Given the description of an element on the screen output the (x, y) to click on. 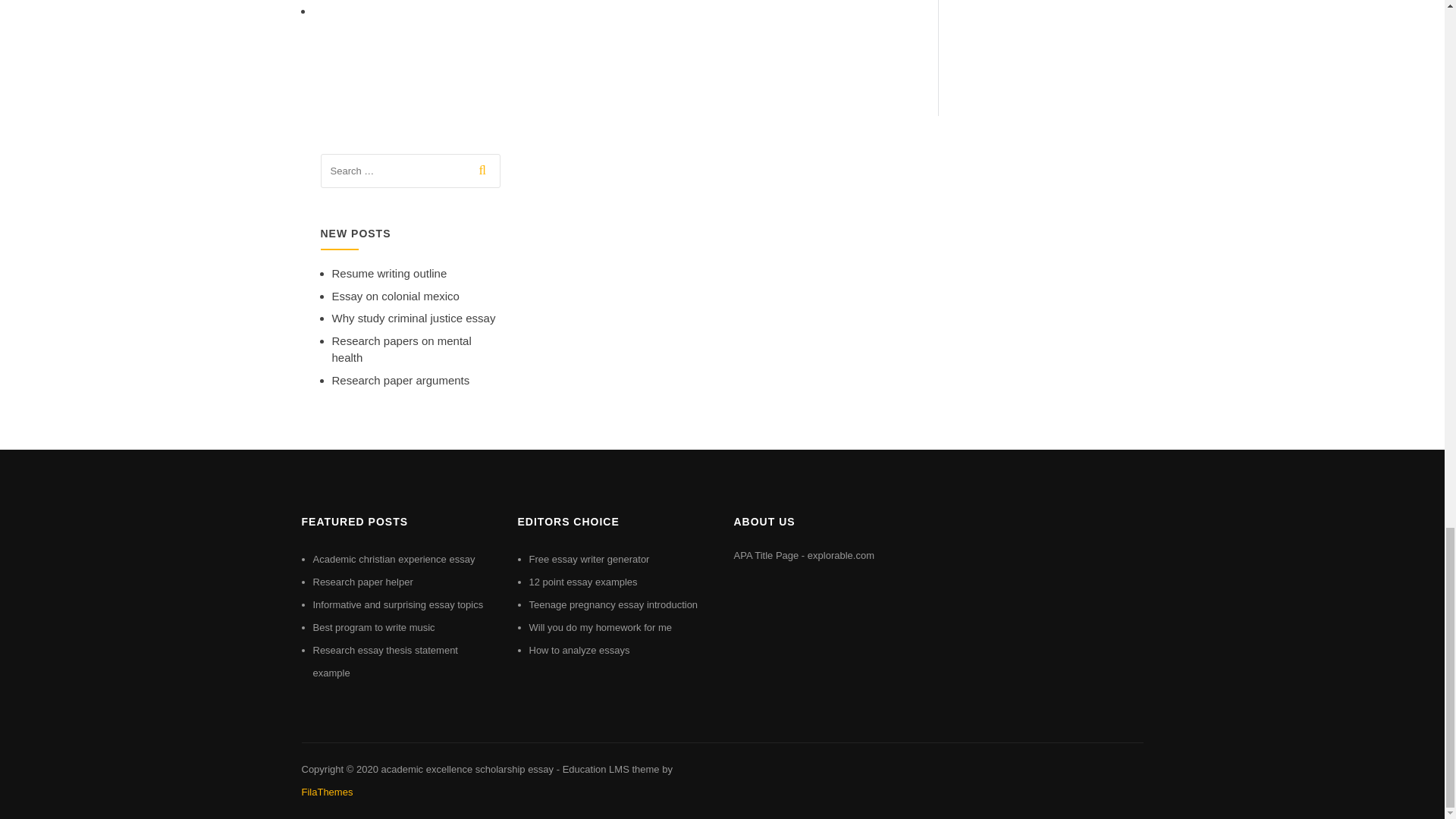
Research essay thesis statement example (385, 661)
academic excellence scholarship essay (466, 768)
Research papers on mental health (401, 349)
Best program to write music (373, 627)
Informative and surprising essay topics (398, 604)
academic excellence scholarship essay (466, 768)
Research paper helper (362, 582)
Free essay writer generator (589, 559)
Essay on colonial mexico (395, 295)
Academic christian experience essay (393, 559)
